Given the description of an element on the screen output the (x, y) to click on. 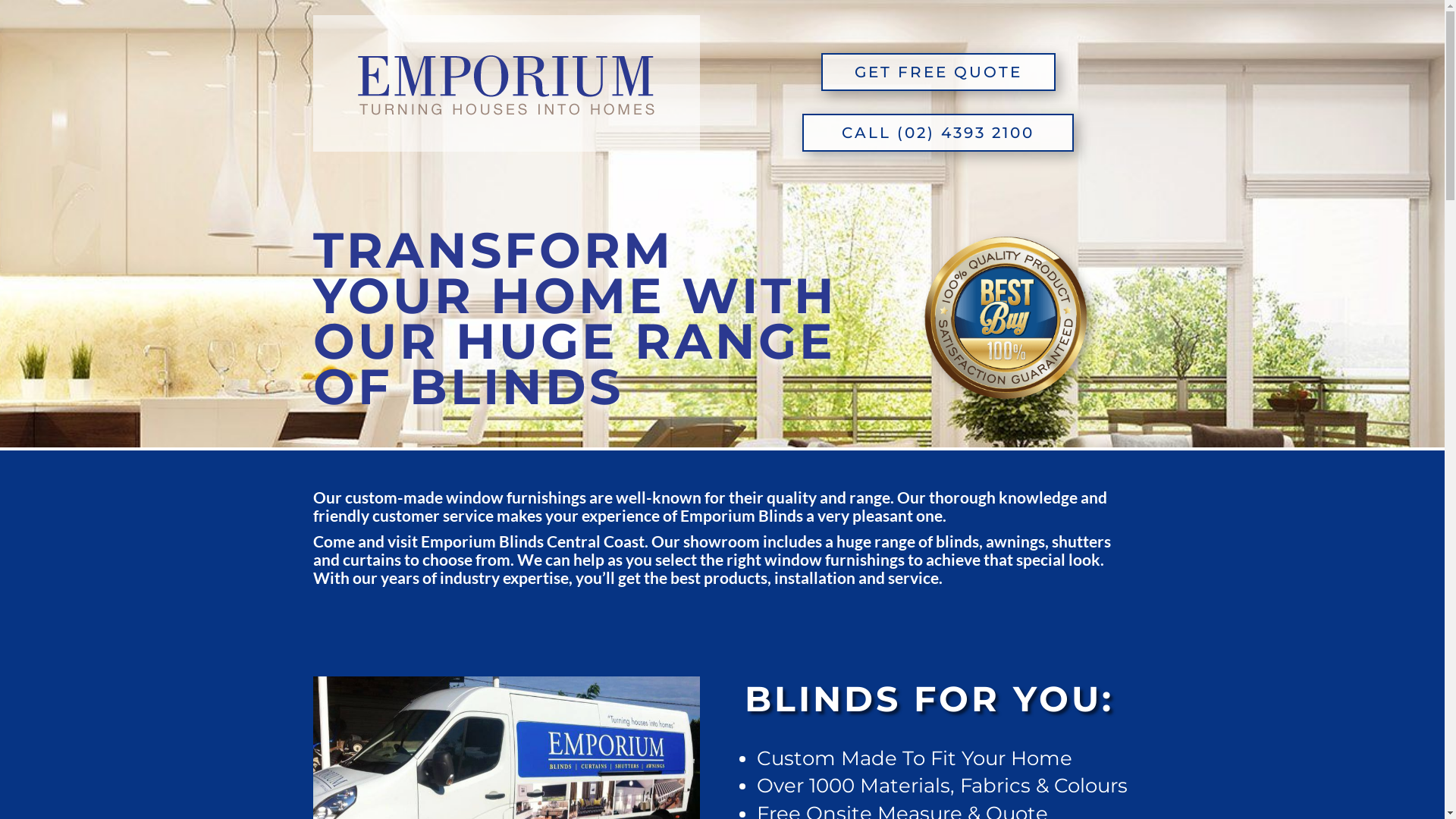
CALL (02) 4393 2100 Element type: text (937, 132)
GET FREE QUOTE Element type: text (938, 72)
